Given the description of an element on the screen output the (x, y) to click on. 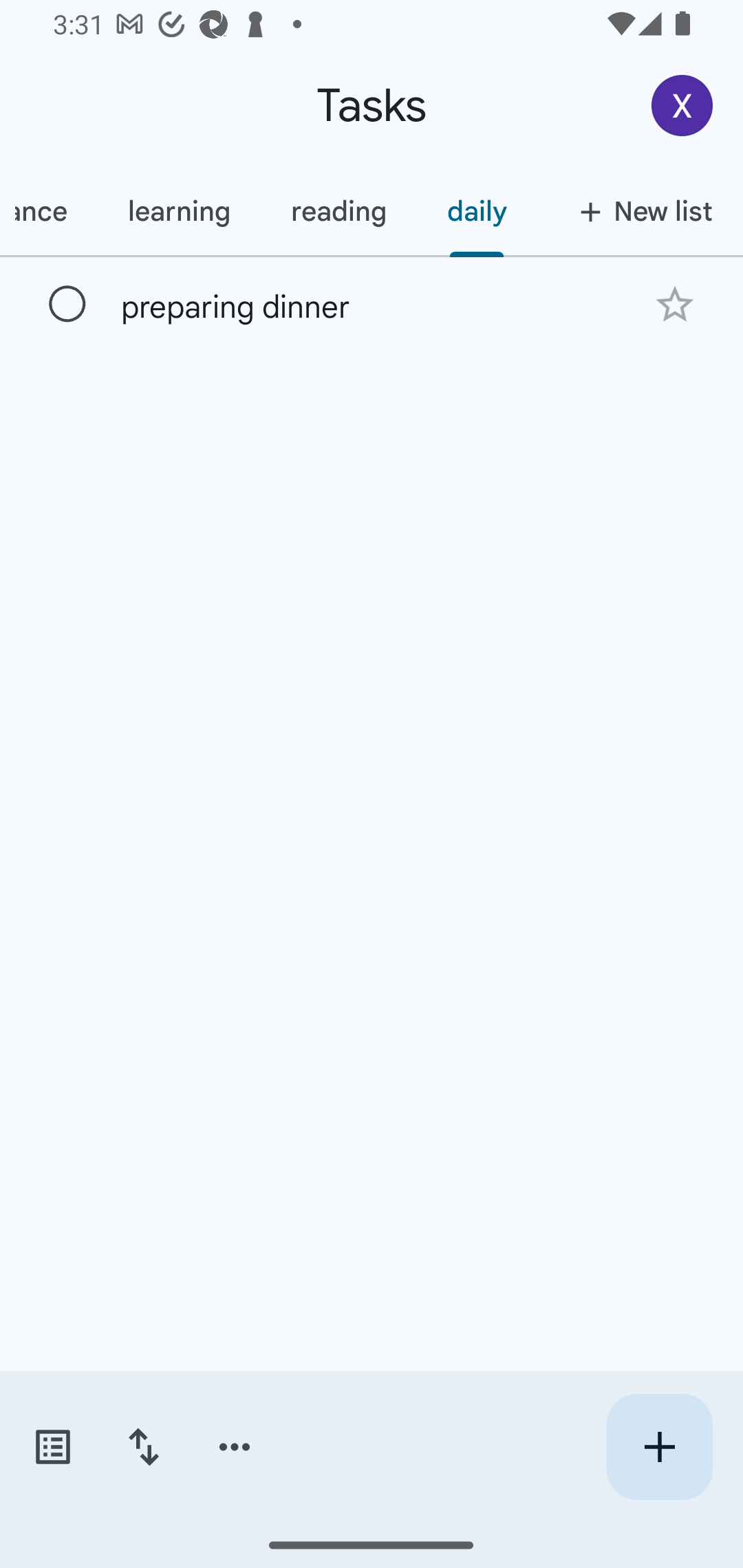
learning (178, 211)
reading (338, 211)
New list (640, 211)
Add star (674, 303)
Mark as complete (67, 304)
Switch task lists (52, 1447)
Create new task (659, 1446)
Change sort order (143, 1446)
More options (234, 1446)
